Given the description of an element on the screen output the (x, y) to click on. 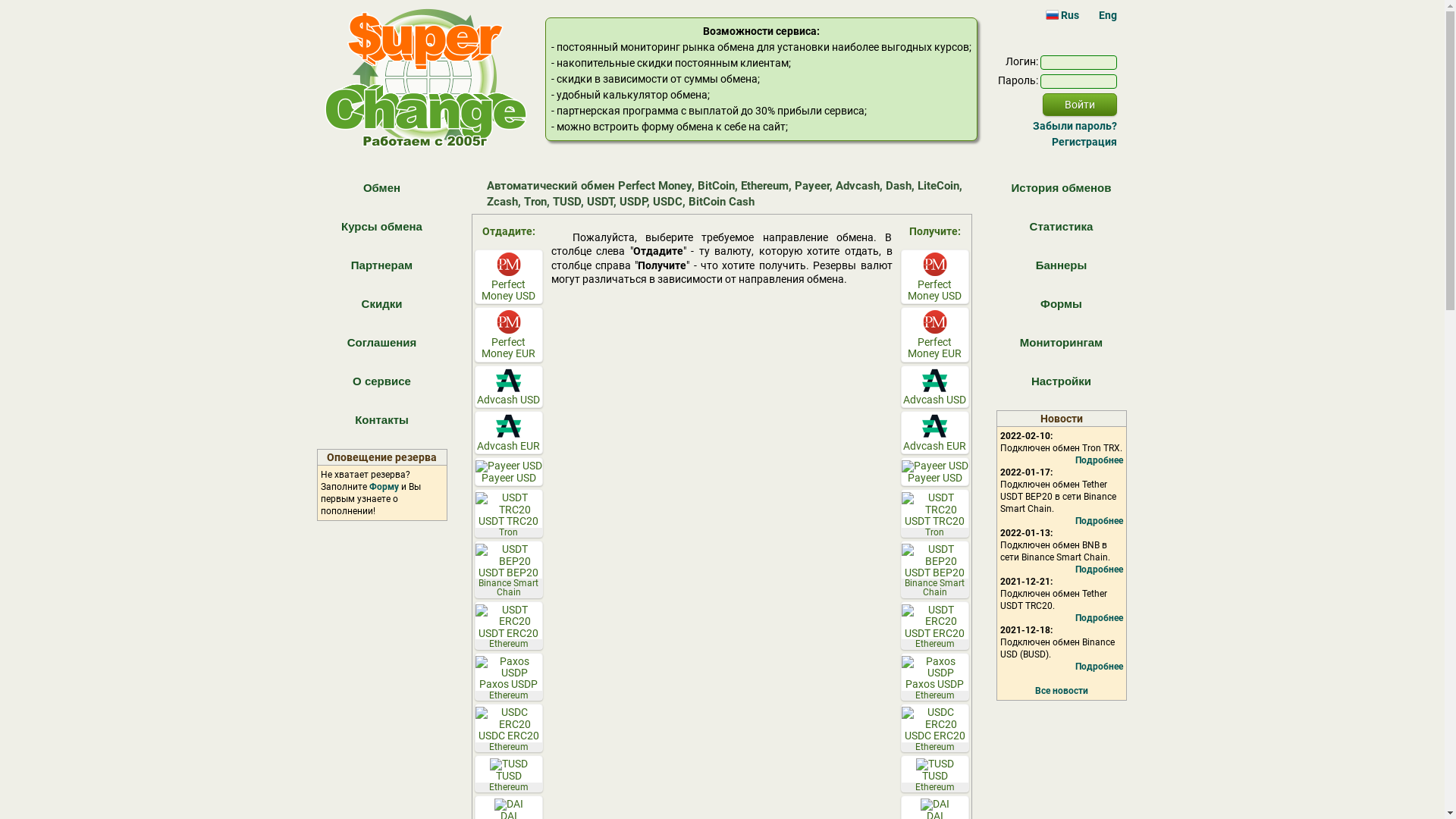
Advcash EUR Element type: text (508, 432)
Perfect Money EUR Element type: text (934, 334)
Paxos USDP
Ethereum Element type: text (508, 676)
USDC ERC20
Ethereum Element type: text (934, 727)
Advcash USD Element type: text (508, 386)
USDT BEP20
Binance Smart Chain Element type: text (508, 568)
Payeer USD Element type: text (934, 471)
 Rus Element type: text (1061, 15)
USDT TRC20
Tron Element type: text (934, 513)
USDT ERC20
Ethereum Element type: text (508, 625)
USDC ERC20
Ethereum Element type: text (508, 727)
Perfect Money EUR Element type: text (508, 334)
USDT BEP20
Binance Smart Chain Element type: text (934, 568)
Perfect Money USD Element type: text (508, 276)
USDT TRC20
Tron Element type: text (508, 513)
TUSD
Ethereum Element type: text (934, 773)
Advcash USD Element type: text (934, 386)
TUSD
Ethereum Element type: text (508, 773)
Payeer USD Element type: text (508, 471)
Paxos USDP
Ethereum Element type: text (934, 676)
 Eng Element type: text (1099, 15)
Advcash EUR Element type: text (934, 432)
USDT ERC20
Ethereum Element type: text (934, 625)
Perfect Money USD Element type: text (934, 276)
